Given the description of an element on the screen output the (x, y) to click on. 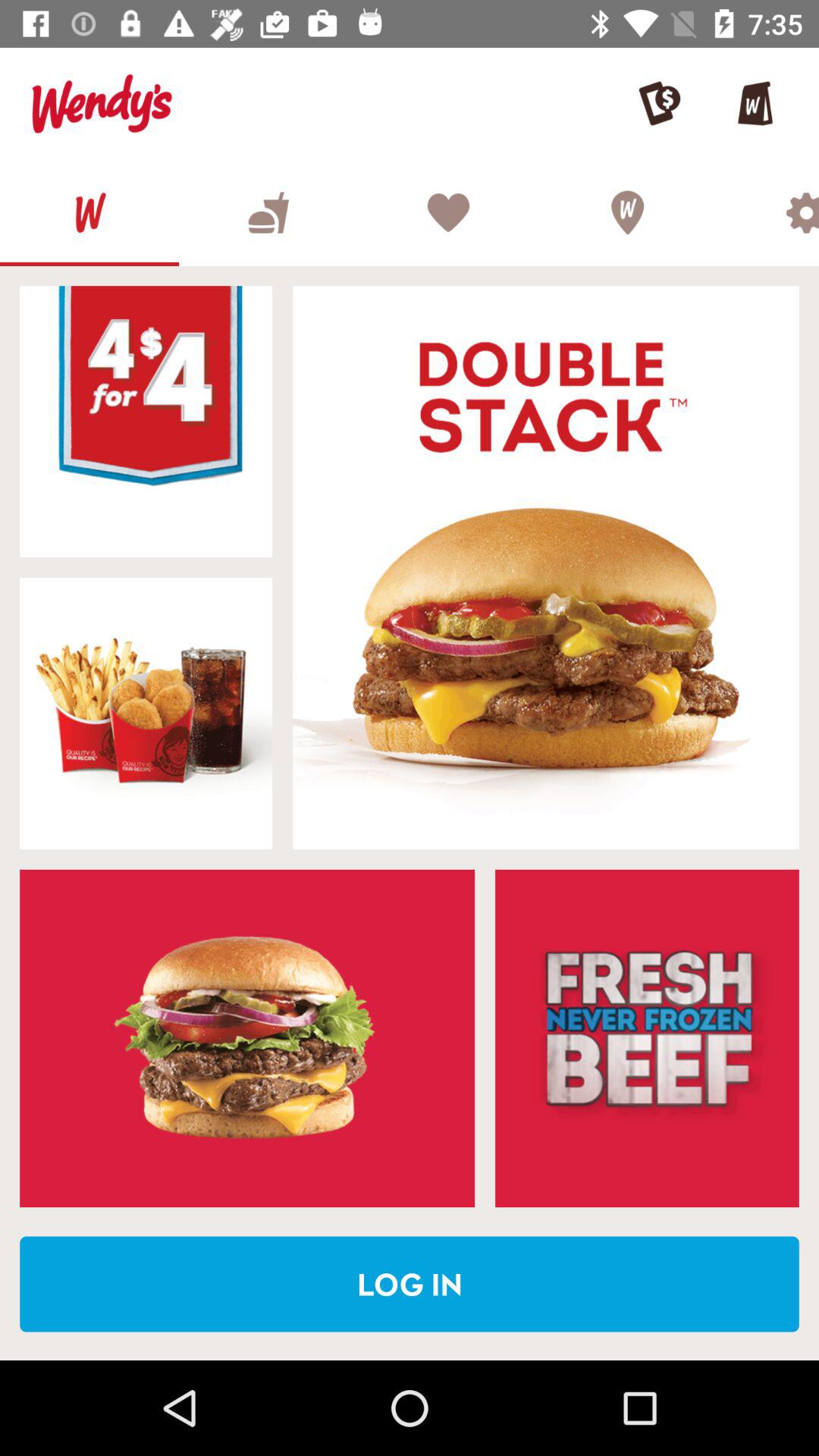
choose a meal option (246, 1038)
